Given the description of an element on the screen output the (x, y) to click on. 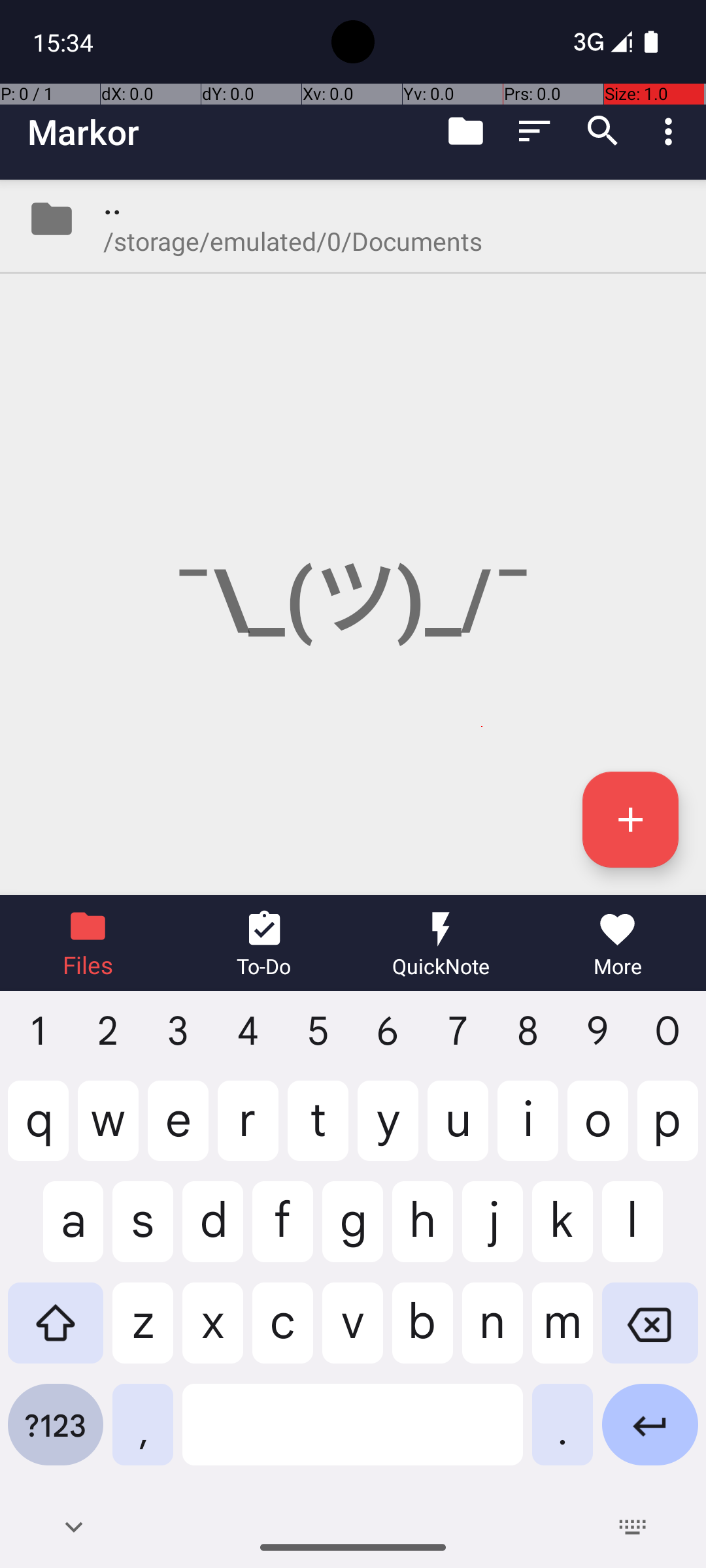
¯\_(ツ)_/¯ Element type: android.widget.TextView (353, 537)
